Given the description of an element on the screen output the (x, y) to click on. 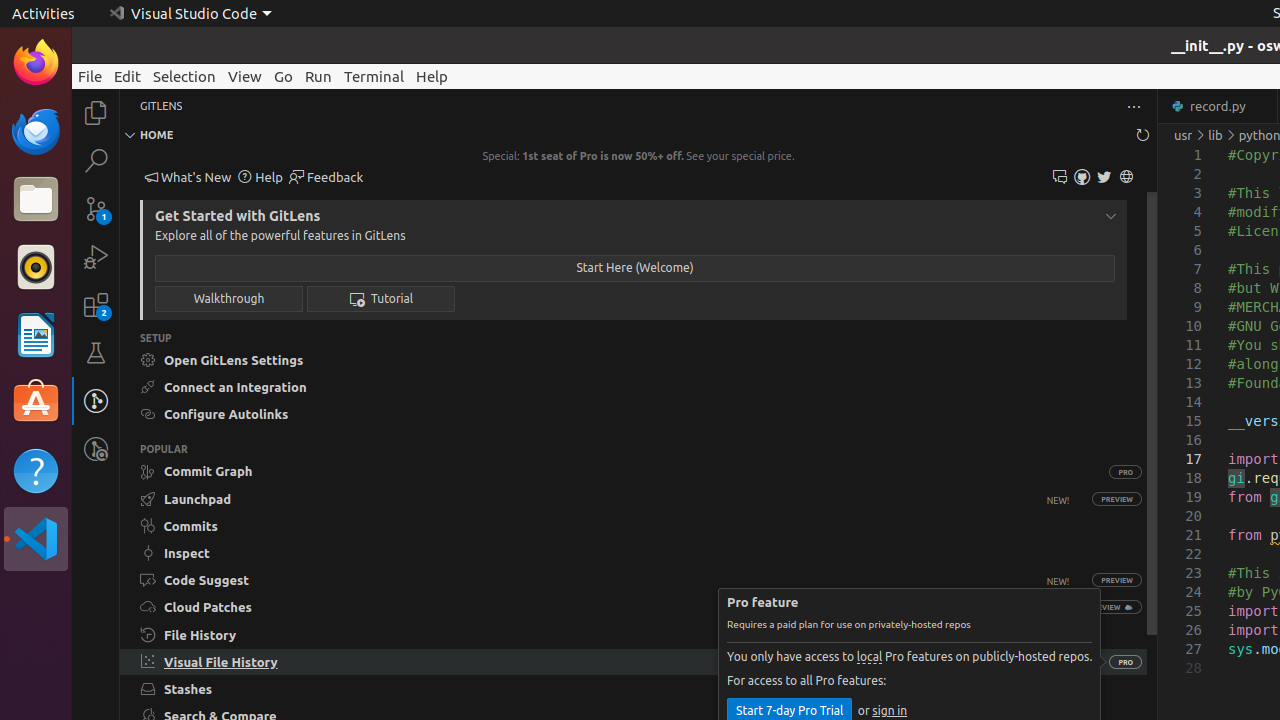
Refresh Element type: push-button (1143, 135)
Show File History view Element type: link (633, 634)
Edit Element type: push-button (127, 76)
Show Cloud Patches view Element type: link (598, 607)
 Tutorial Element type: link (381, 298)
